Given the description of an element on the screen output the (x, y) to click on. 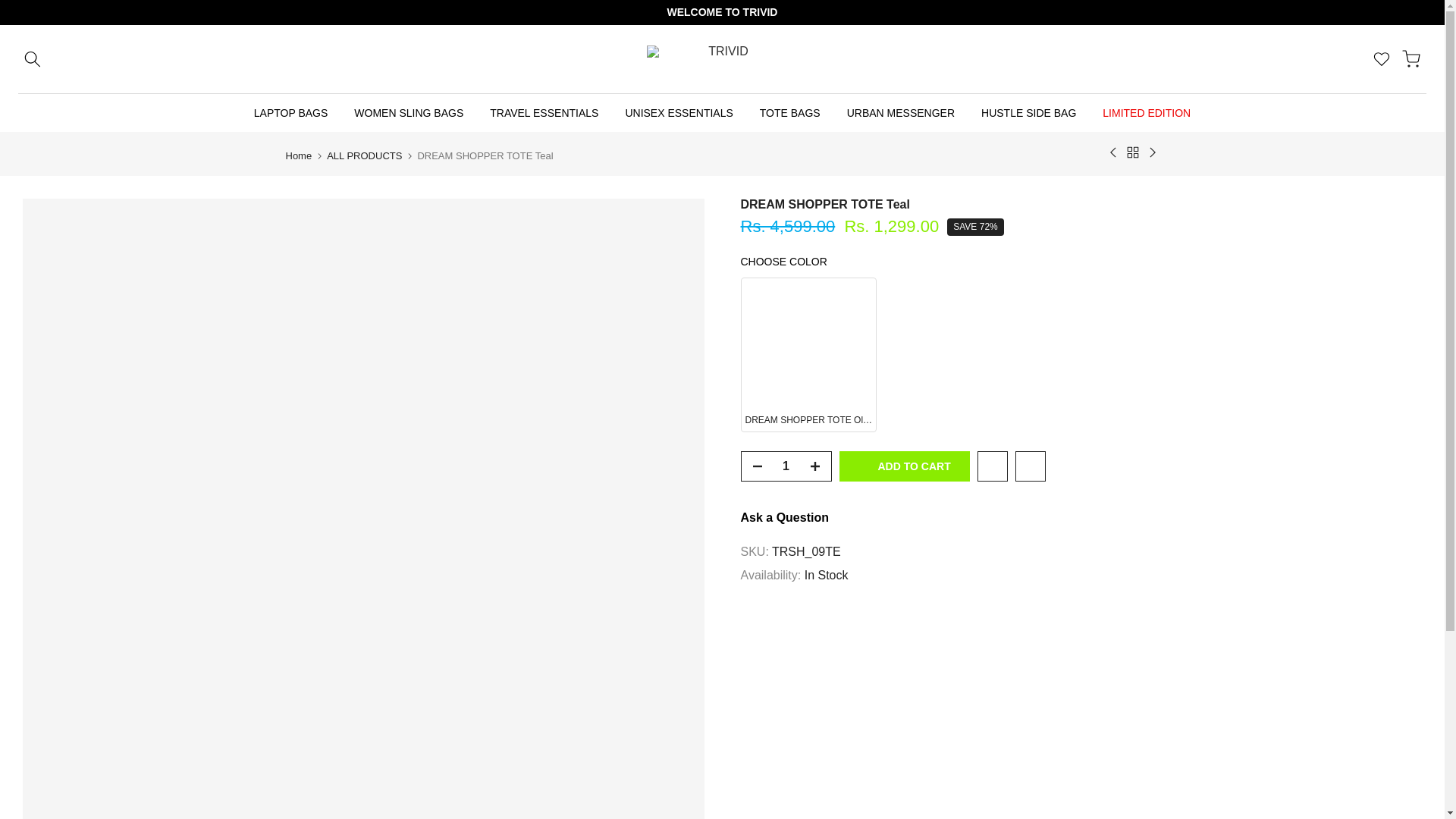
ADD TO CART (903, 466)
HUSTLE SIDE BAG (1028, 113)
UNISEX ESSENTIALS (678, 113)
ALL PRODUCTS (363, 155)
URBAN MESSENGER (900, 113)
TRAVEL ESSENTIALS (544, 113)
Home (298, 155)
DREAM SHOPPER TOTE Olive Green (808, 354)
TOTE BAGS (788, 113)
1 (786, 466)
Skip to content (10, 7)
LIMITED EDITION (1146, 113)
DREAM SHOPPER TOTE Olive Green (1080, 354)
DREAM SHOPPER TOTE Olive Green (808, 354)
LAPTOP BAGS (290, 113)
